Given the description of an element on the screen output the (x, y) to click on. 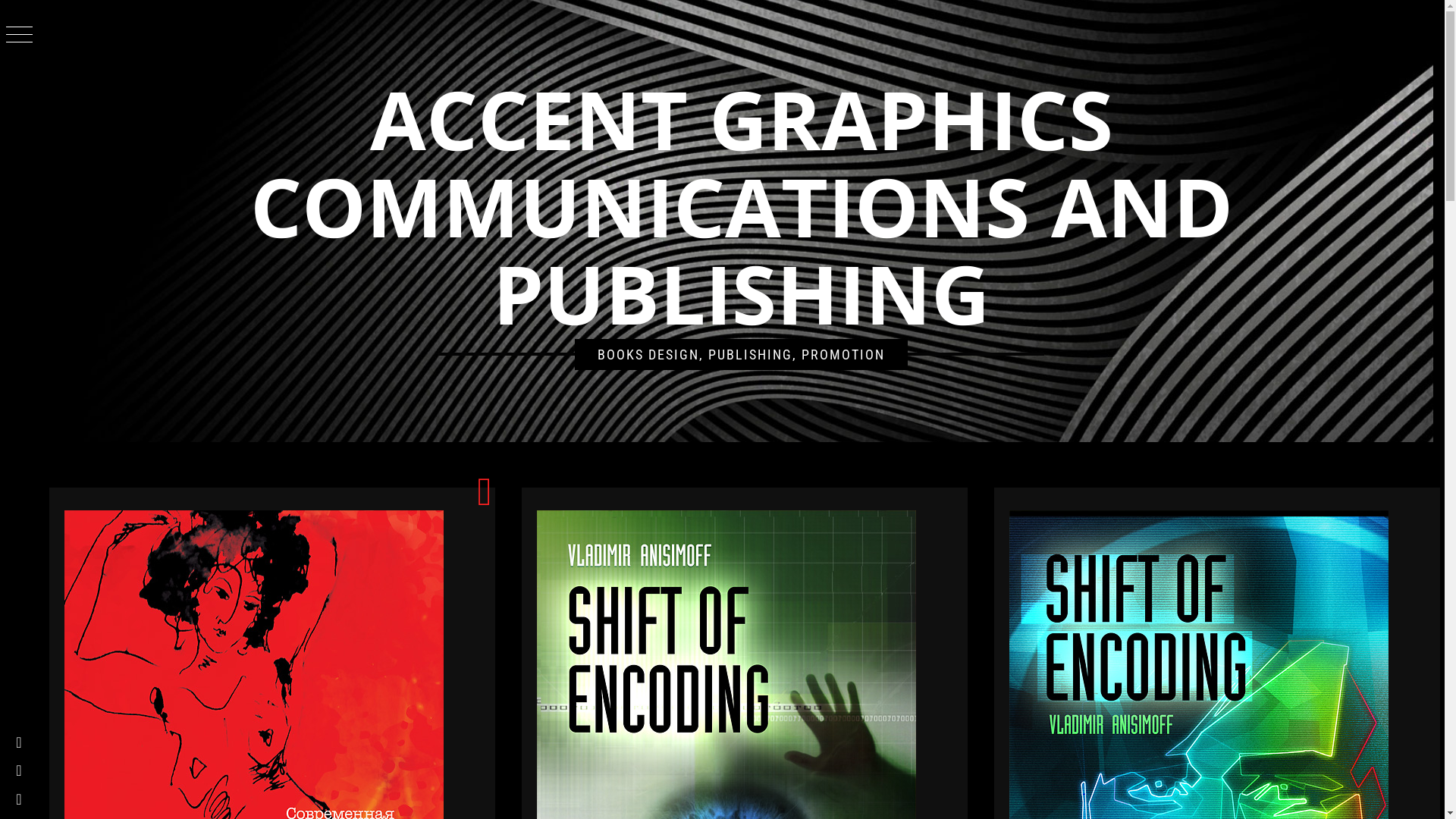
Skip to content Element type: text (0, 0)
ACCENT GRAPHICS COMMUNICATIONS AND PUBLISHING Element type: text (741, 205)
Search Element type: text (645, 37)
